Given the description of an element on the screen output the (x, y) to click on. 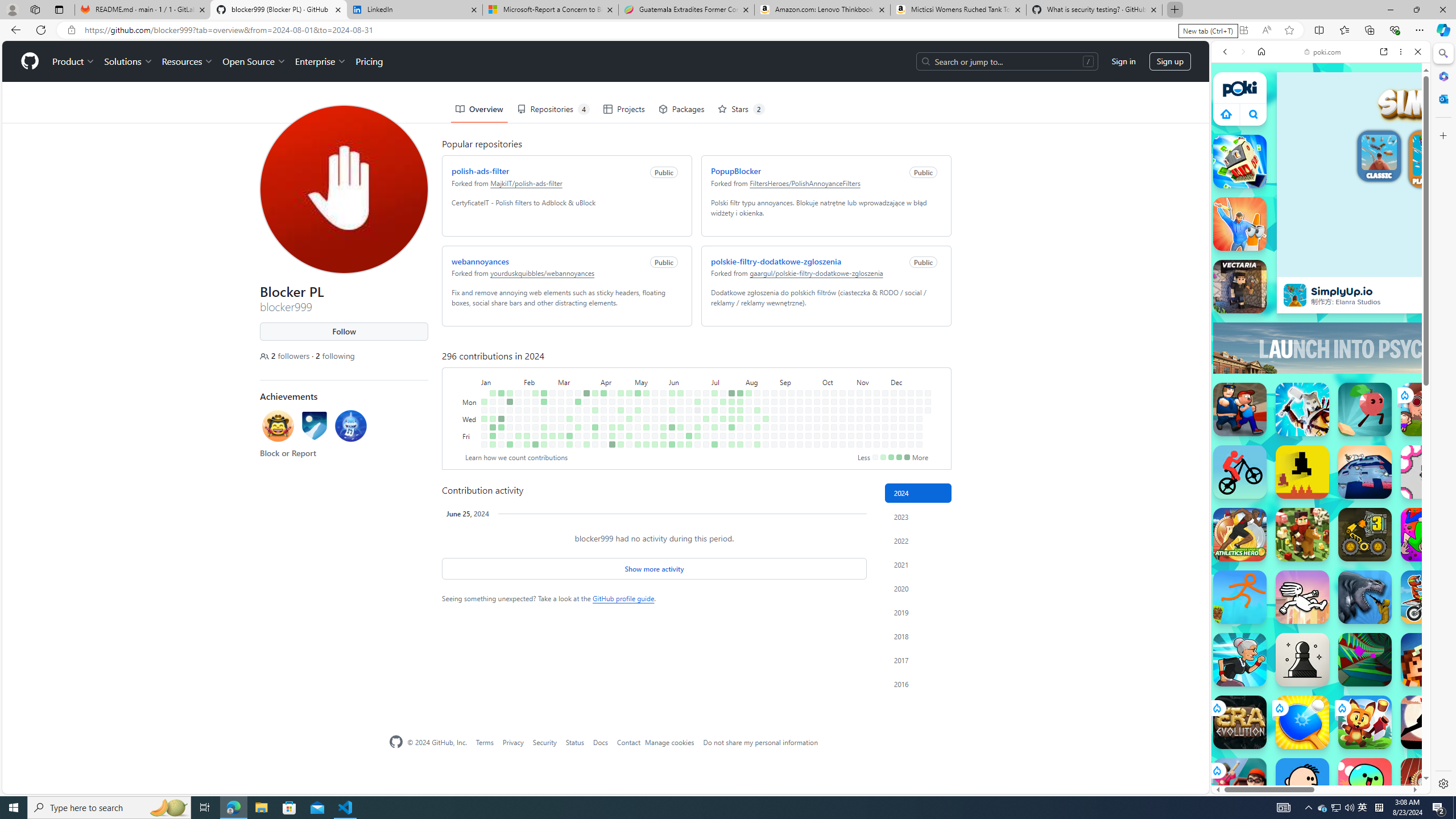
Stars 2 (741, 108)
No contributions on November 20th. (876, 418)
No contributions on June 25th. (697, 410)
Search the web (1326, 78)
No contributions on March 20th. (577, 418)
No contributions on October 12th. (825, 444)
1 contribution on April 25th. (620, 427)
CLASSIC (1378, 157)
2020 (917, 588)
No contributions on September 22nd. (807, 392)
1 contribution on January 1st. (483, 401)
No contributions on May 29th. (663, 418)
6 contributions on January 18th. (500, 427)
